Given the description of an element on the screen output the (x, y) to click on. 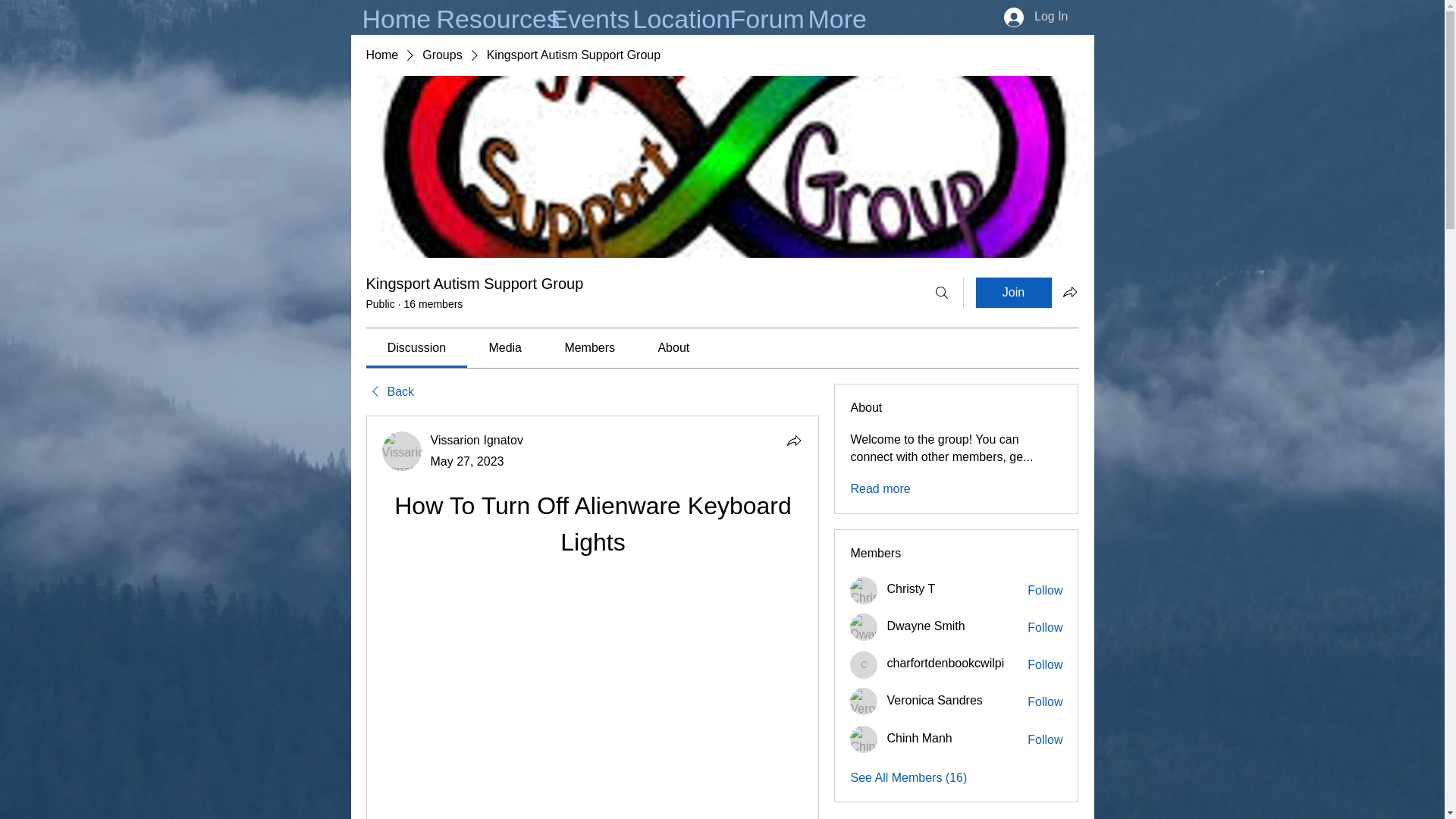
Vissarion Ignatov (401, 450)
charfortdenbookcwilpi (945, 663)
Join (1013, 292)
Christy T (910, 588)
May 27, 2023 (466, 461)
Chinh Manh (863, 738)
Back (389, 392)
Follow (1044, 590)
Chinh Manh (919, 738)
Log In (1035, 17)
